Given the description of an element on the screen output the (x, y) to click on. 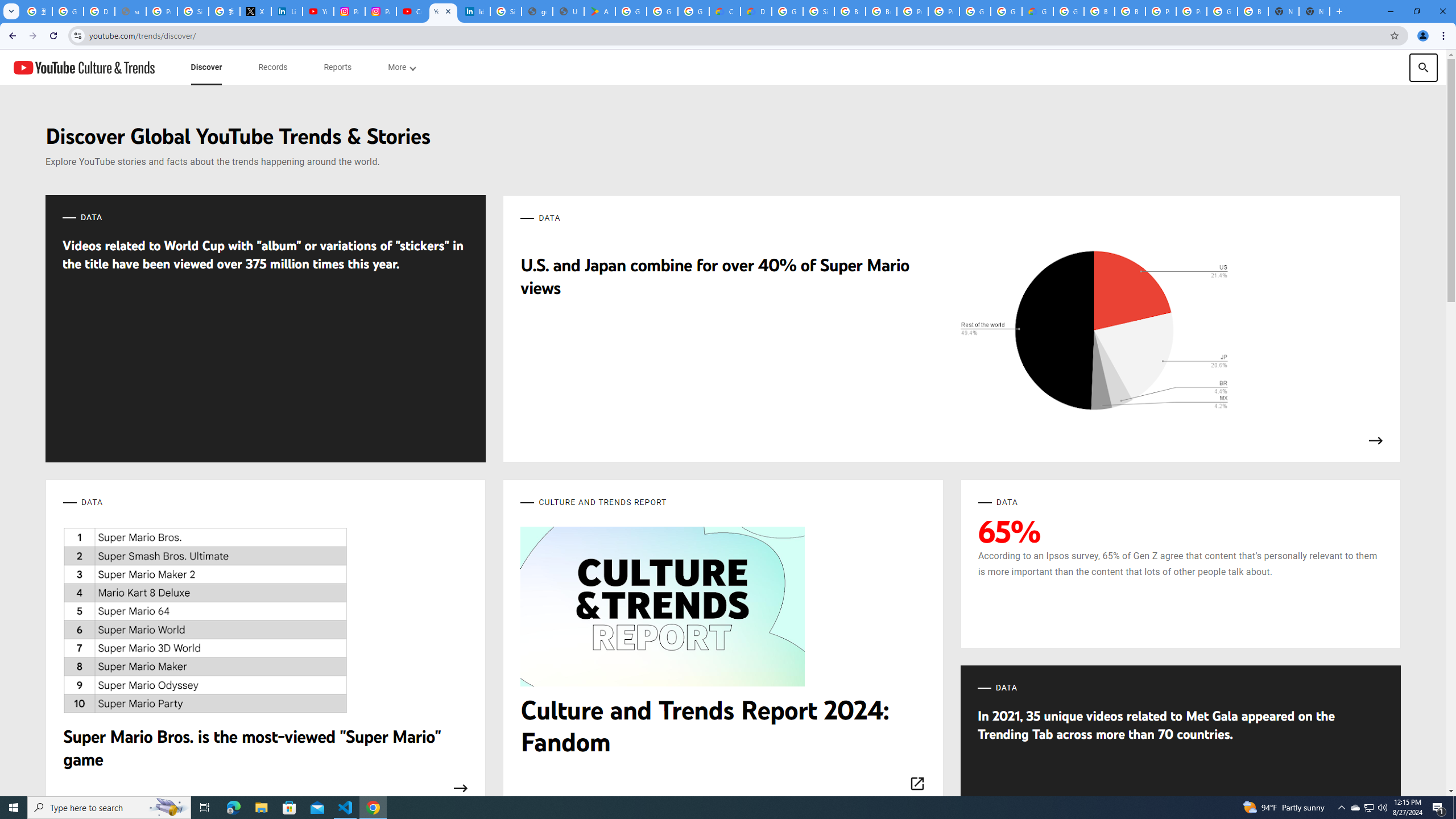
subnav-More menupopup (401, 67)
Google Cloud Platform (1222, 11)
User Details (568, 11)
Browse Chrome as a guest - Computer - Google Chrome Help (849, 11)
Google Workspace - Specific Terms (662, 11)
JUMP TO CONTENT (118, 67)
